Given the description of an element on the screen output the (x, y) to click on. 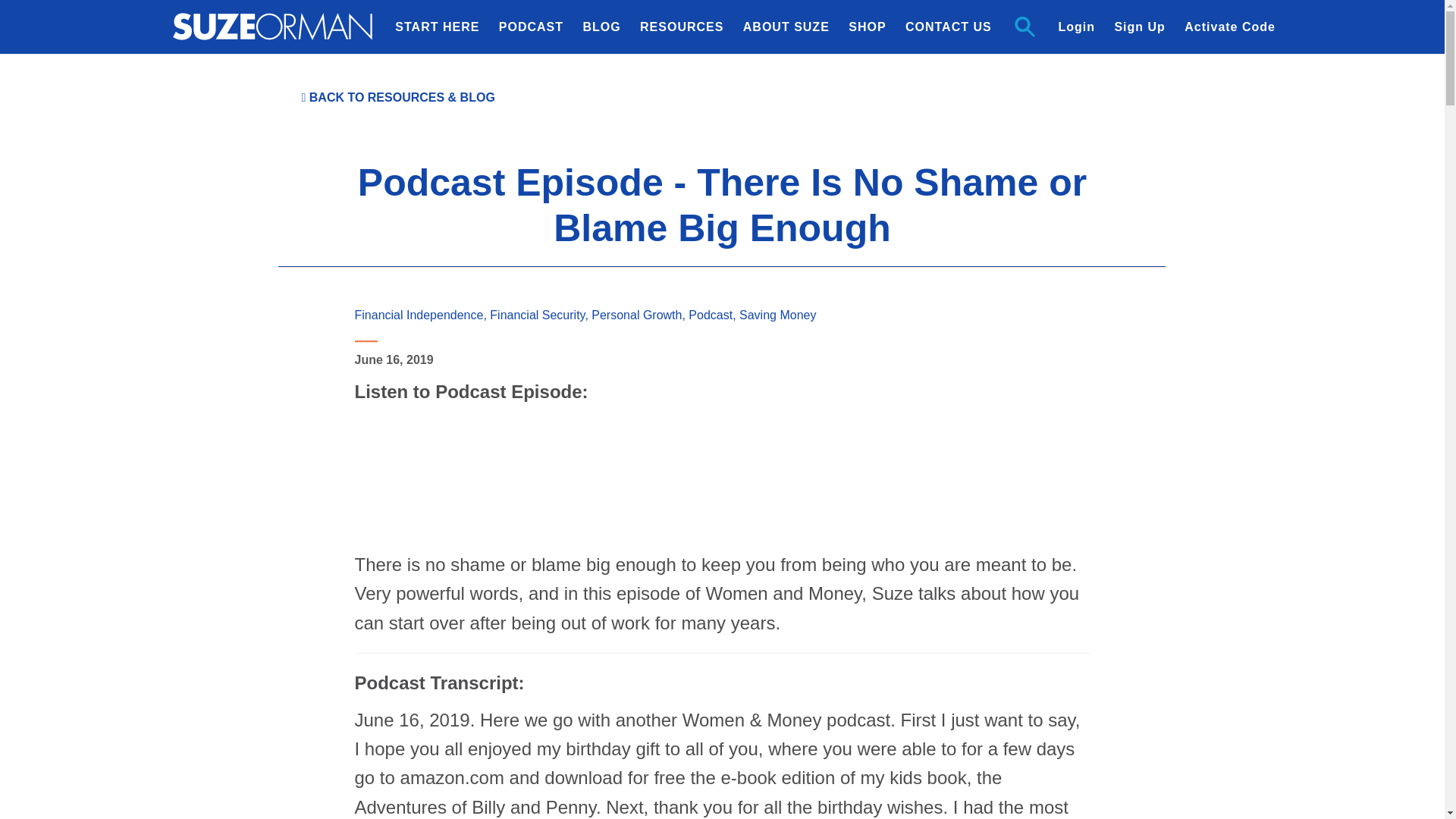
There Is No Shame or Blame Big Enough (722, 482)
ABOUT SUZE (785, 27)
PODCAST (531, 27)
RESOURCES (681, 27)
START HERE (437, 27)
